Given the description of an element on the screen output the (x, y) to click on. 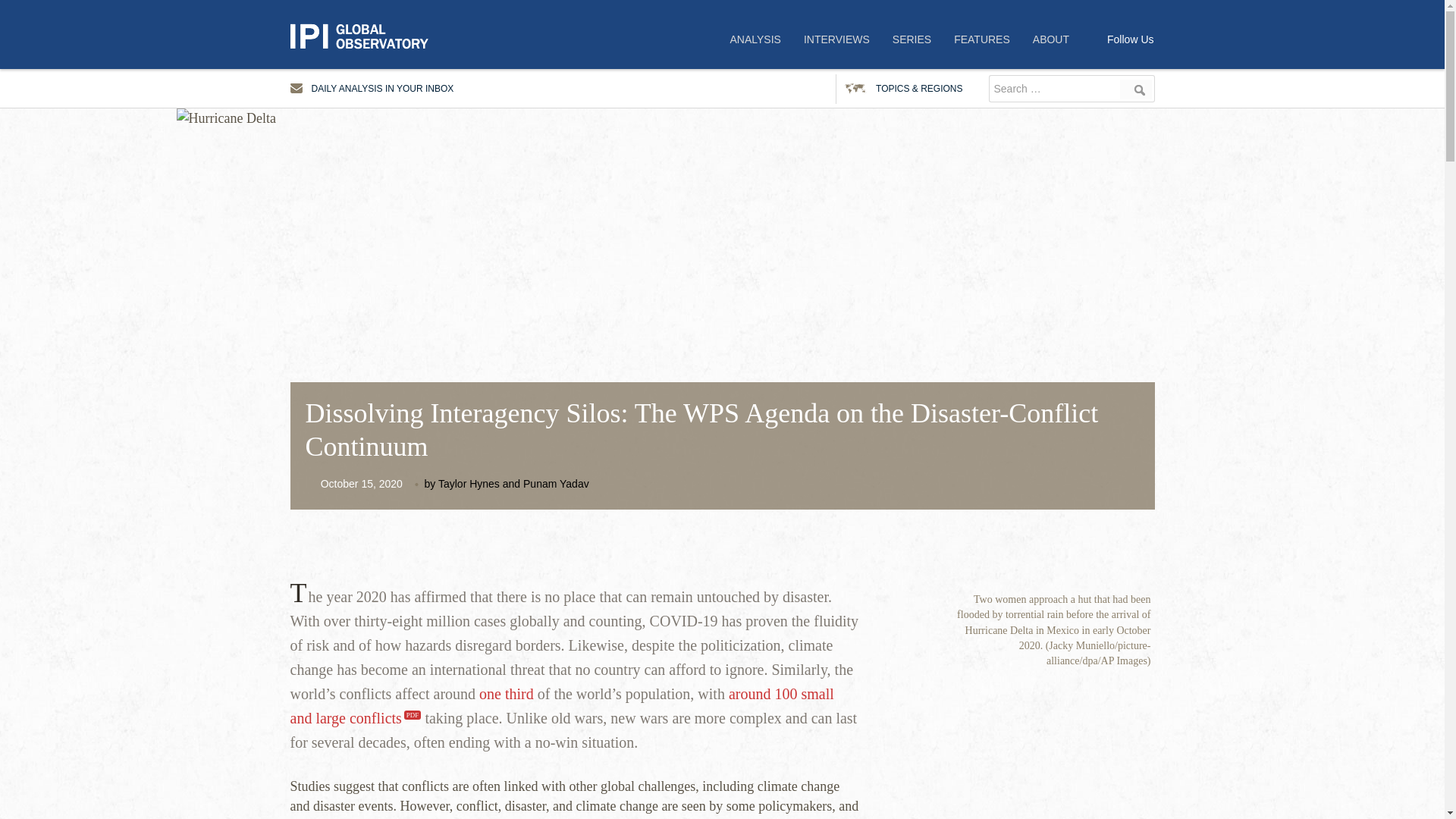
search (1136, 88)
FEATURES (982, 39)
Search for: (1053, 88)
ANALYSIS (754, 39)
IPI Global Observatory (365, 36)
DAILY ANALYSIS IN YOUR INBOX (372, 89)
Follow Us (1130, 39)
SERIES (911, 39)
ABOUT (1051, 39)
INTERVIEWS (836, 39)
